Given the description of an element on the screen output the (x, y) to click on. 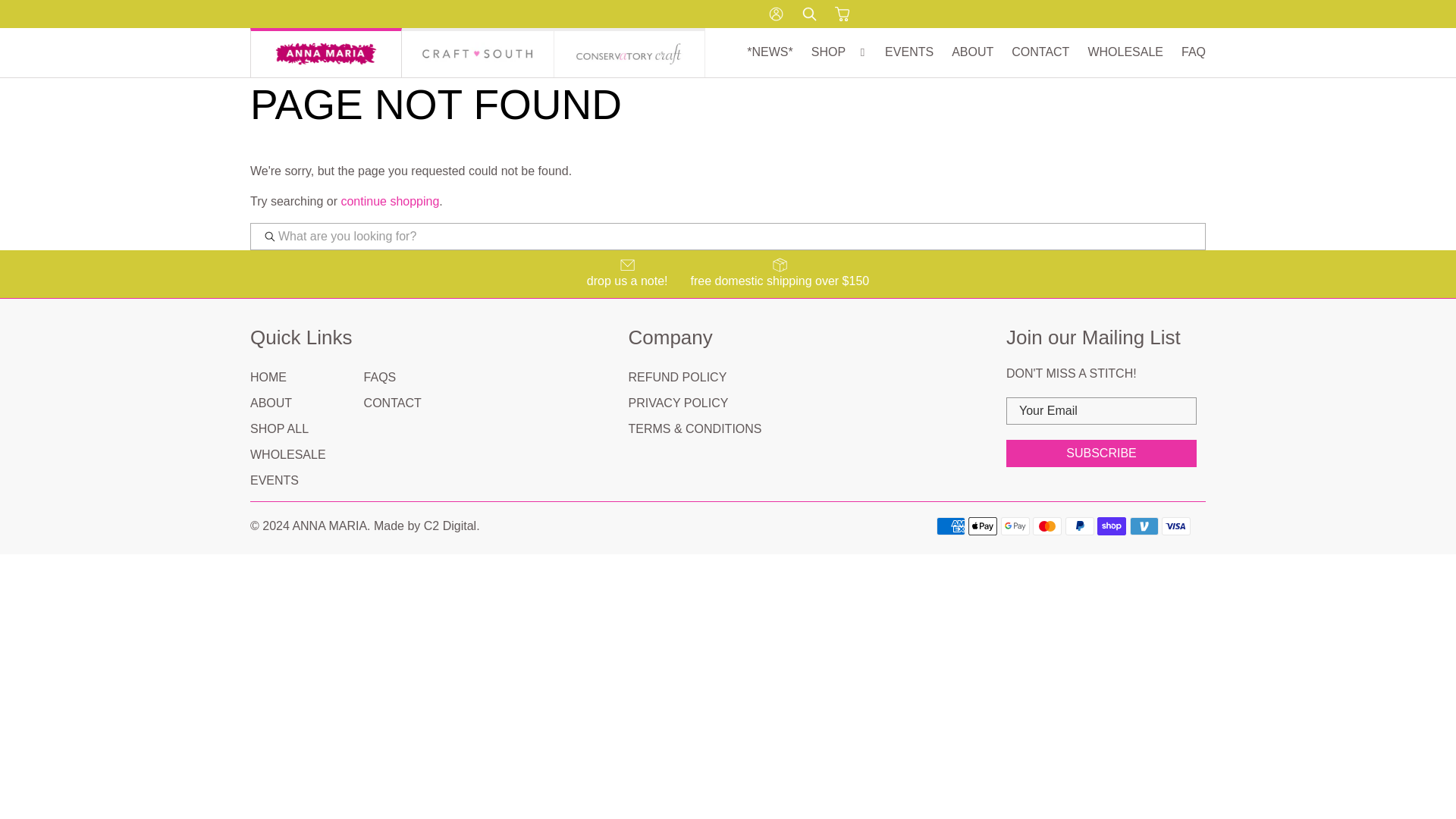
Apple Pay (982, 525)
Mastercard (1046, 525)
Anna Maria (325, 51)
PayPal (1079, 525)
SHOP (839, 52)
Shop Pay (1111, 525)
American Express (950, 525)
Visa (1176, 525)
Google Pay (1015, 525)
Venmo (1143, 525)
